Given the description of an element on the screen output the (x, y) to click on. 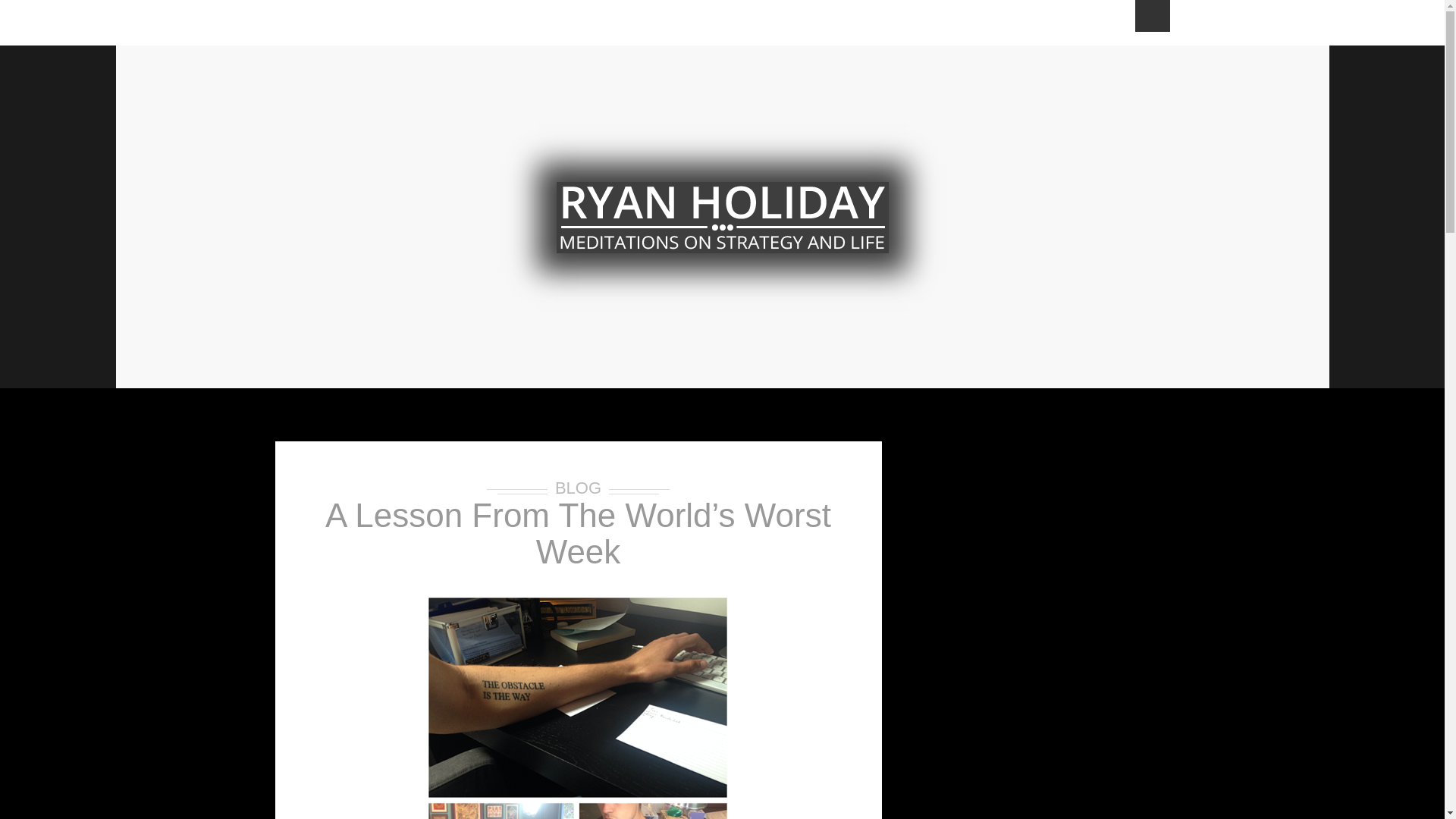
CONTACT (1056, 22)
SPEAKING (819, 22)
BOOKS AND COURSES (939, 22)
READING LIST (549, 22)
BEST ARTICLES (719, 22)
BLOG (577, 487)
ABOUT (356, 22)
BLOG (633, 22)
NEWSLETTER (443, 22)
HOME (298, 22)
